Given the description of an element on the screen output the (x, y) to click on. 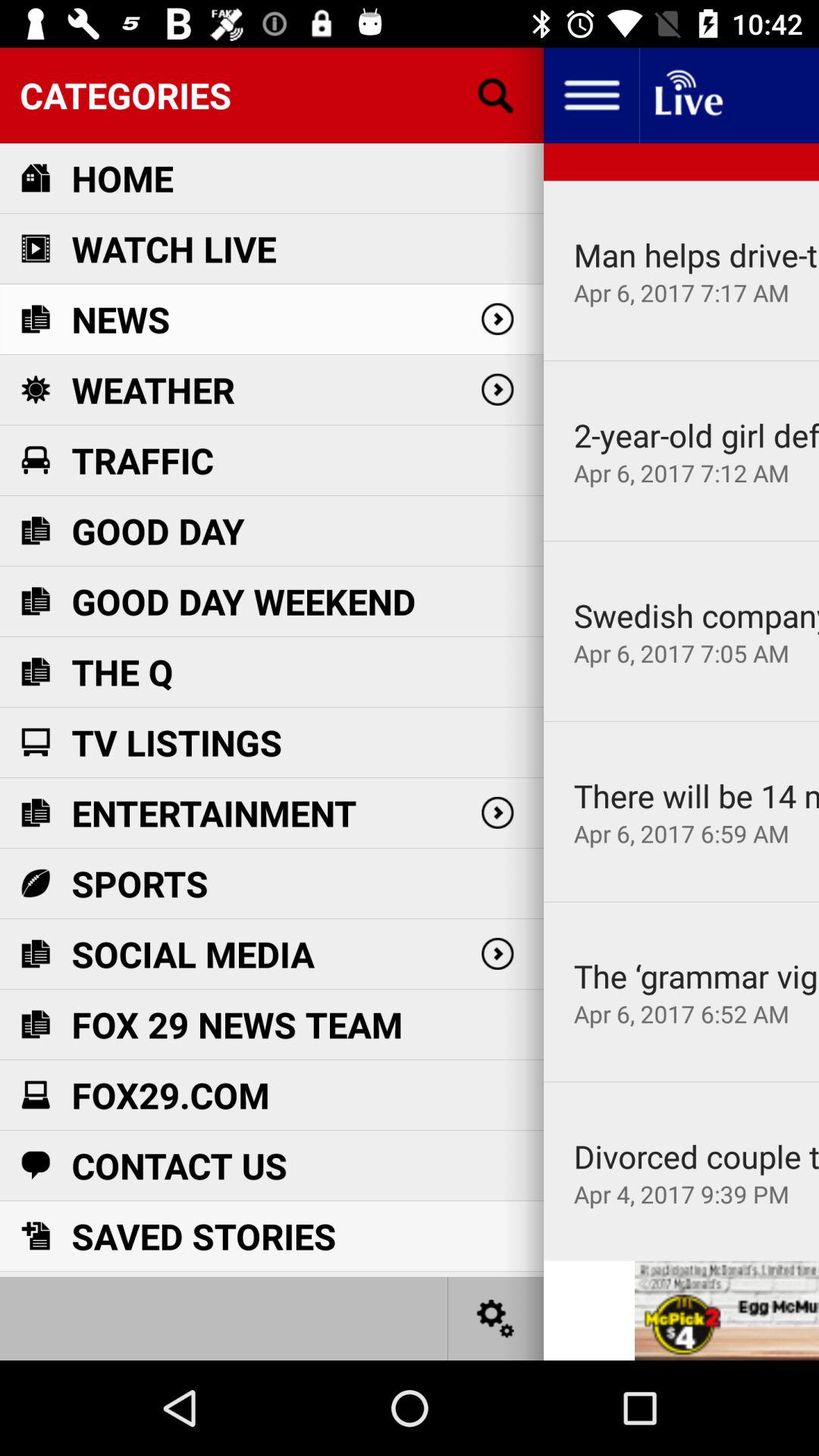
livestream newscast (687, 95)
